Given the description of an element on the screen output the (x, y) to click on. 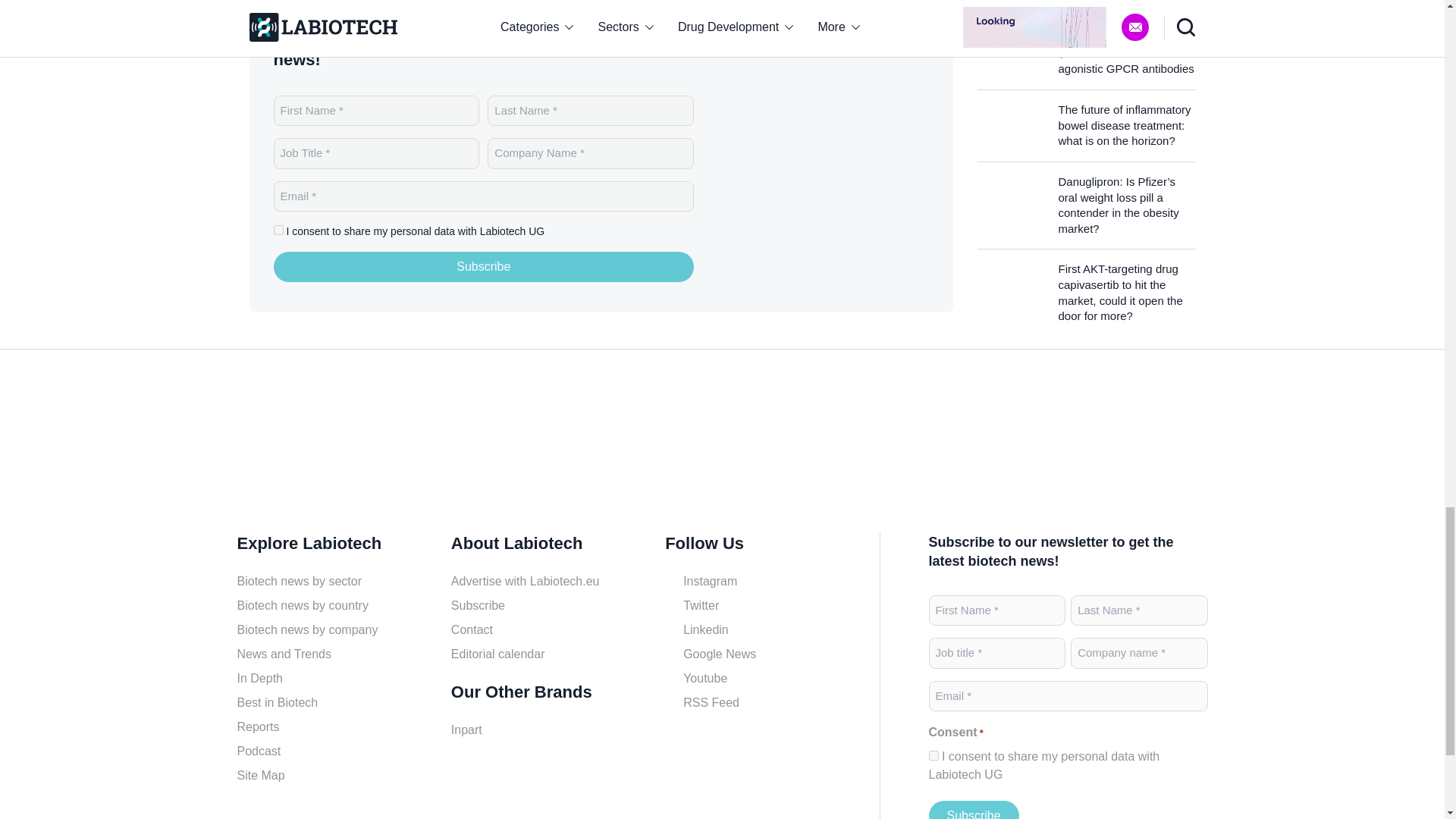
Subscribe (972, 809)
1 (277, 230)
Labiotech.eu (309, 447)
Subscribe (483, 266)
1 (932, 755)
